Given the description of an element on the screen output the (x, y) to click on. 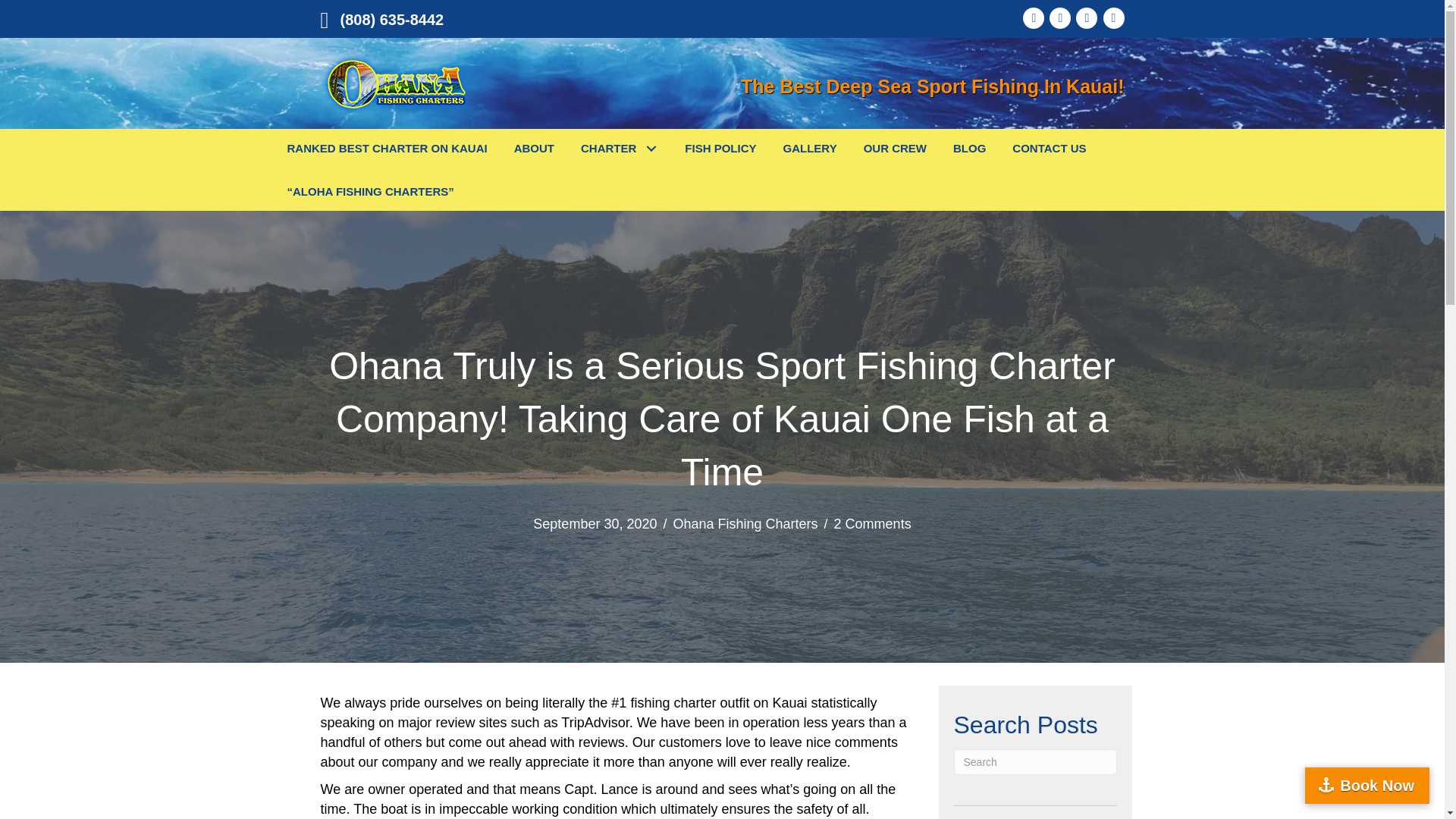
Ohana Fishing Charters (395, 83)
ABOUT (534, 148)
CONTACT US (1049, 148)
RANKED BEST CHARTER ON KAUAI (387, 148)
GALLERY (809, 148)
OUR CREW (894, 148)
CHARTER (619, 148)
2 Comments (872, 523)
Ohana Fishing Charters (744, 523)
FISH POLICY (719, 148)
BLOG (969, 148)
Type and press Enter to search. (1034, 761)
